Given the description of an element on the screen output the (x, y) to click on. 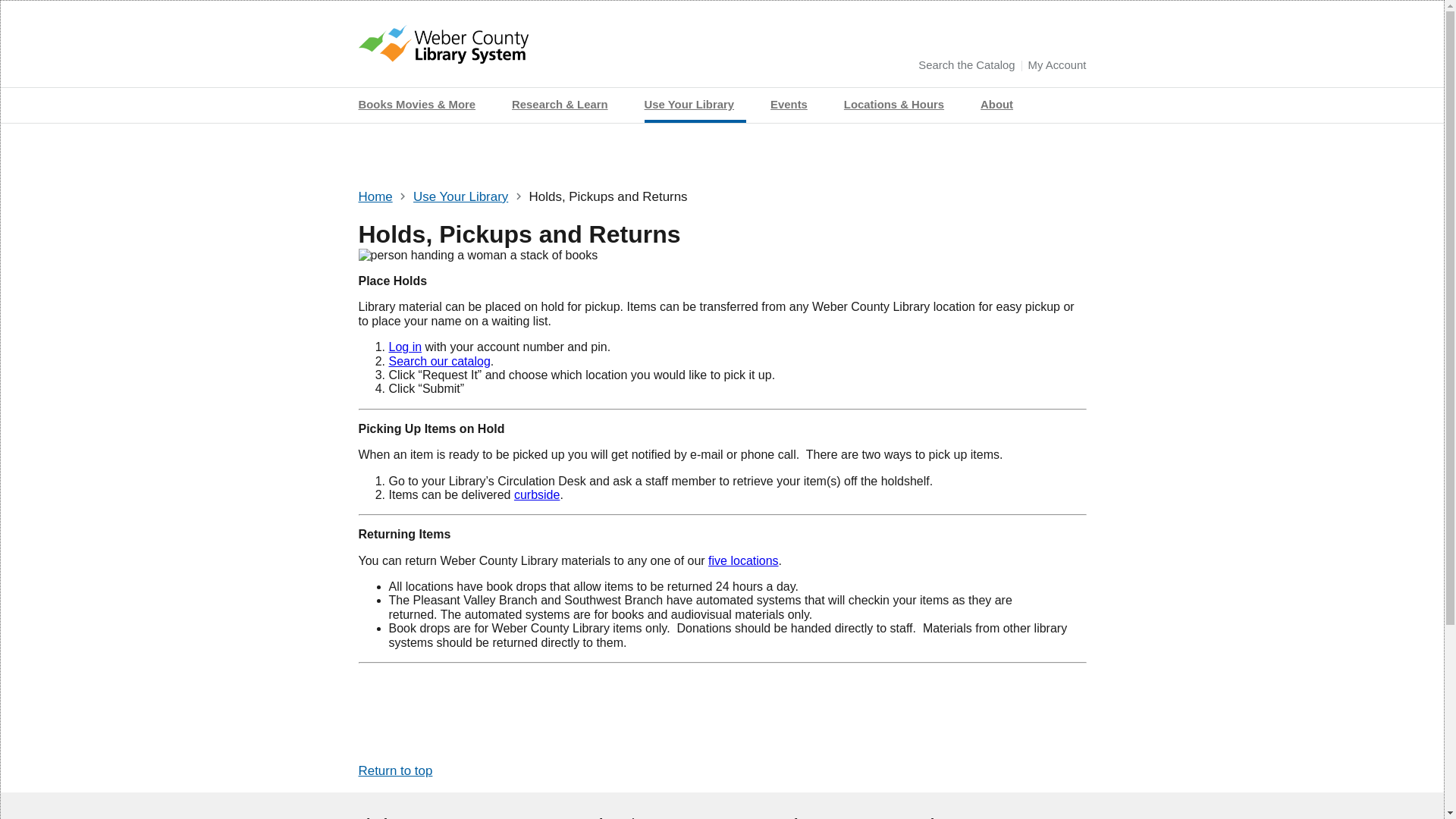
Log in (405, 346)
Events (794, 104)
Search our catalog (438, 360)
My Account (1056, 65)
Return to top (395, 770)
Search the Catalog (966, 65)
Home (442, 54)
Use Your Library (460, 196)
Access your library account (1056, 65)
Search the library catalog (966, 65)
